Given the description of an element on the screen output the (x, y) to click on. 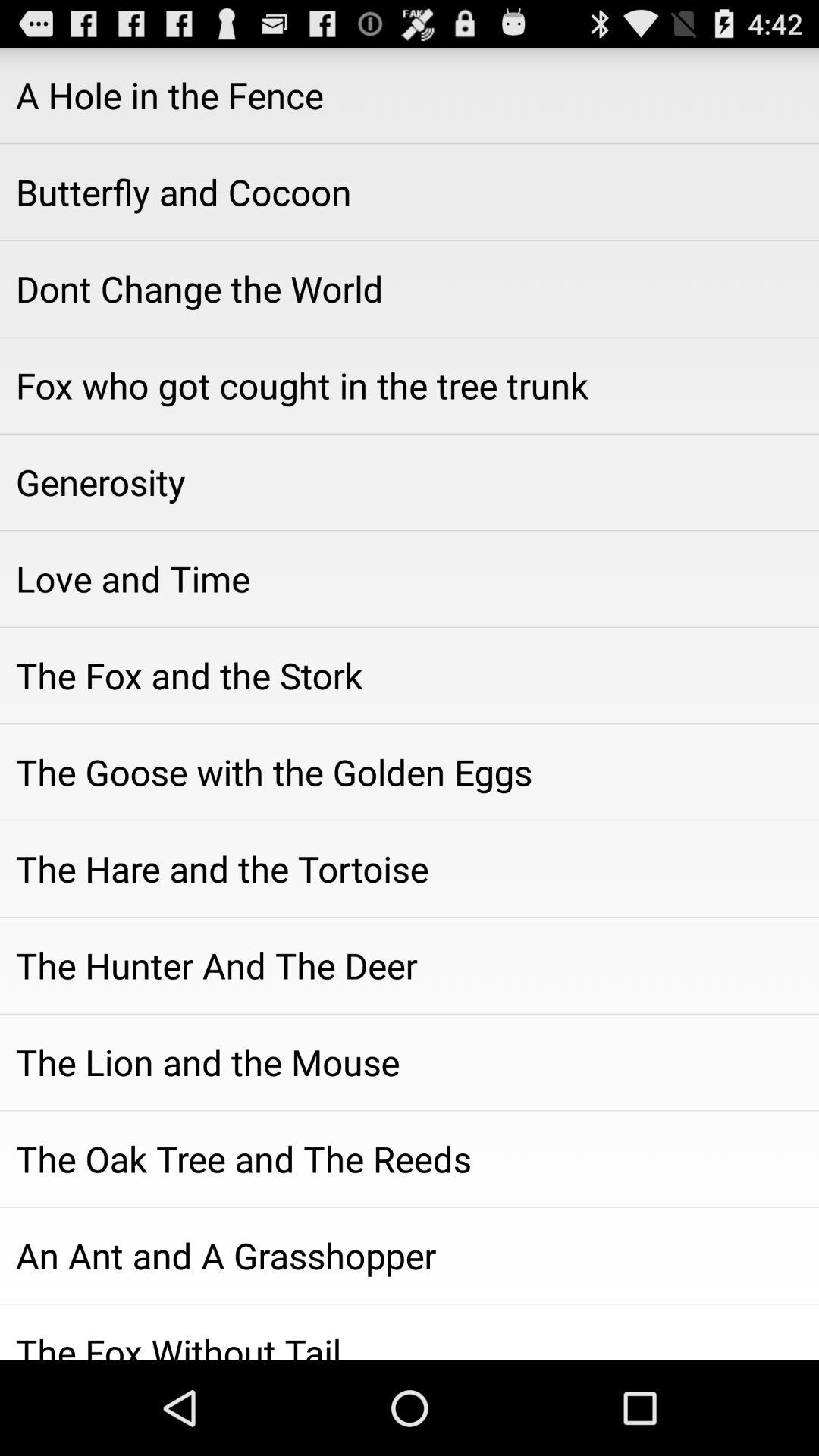
launch icon below a hole in icon (409, 192)
